Given the description of an element on the screen output the (x, y) to click on. 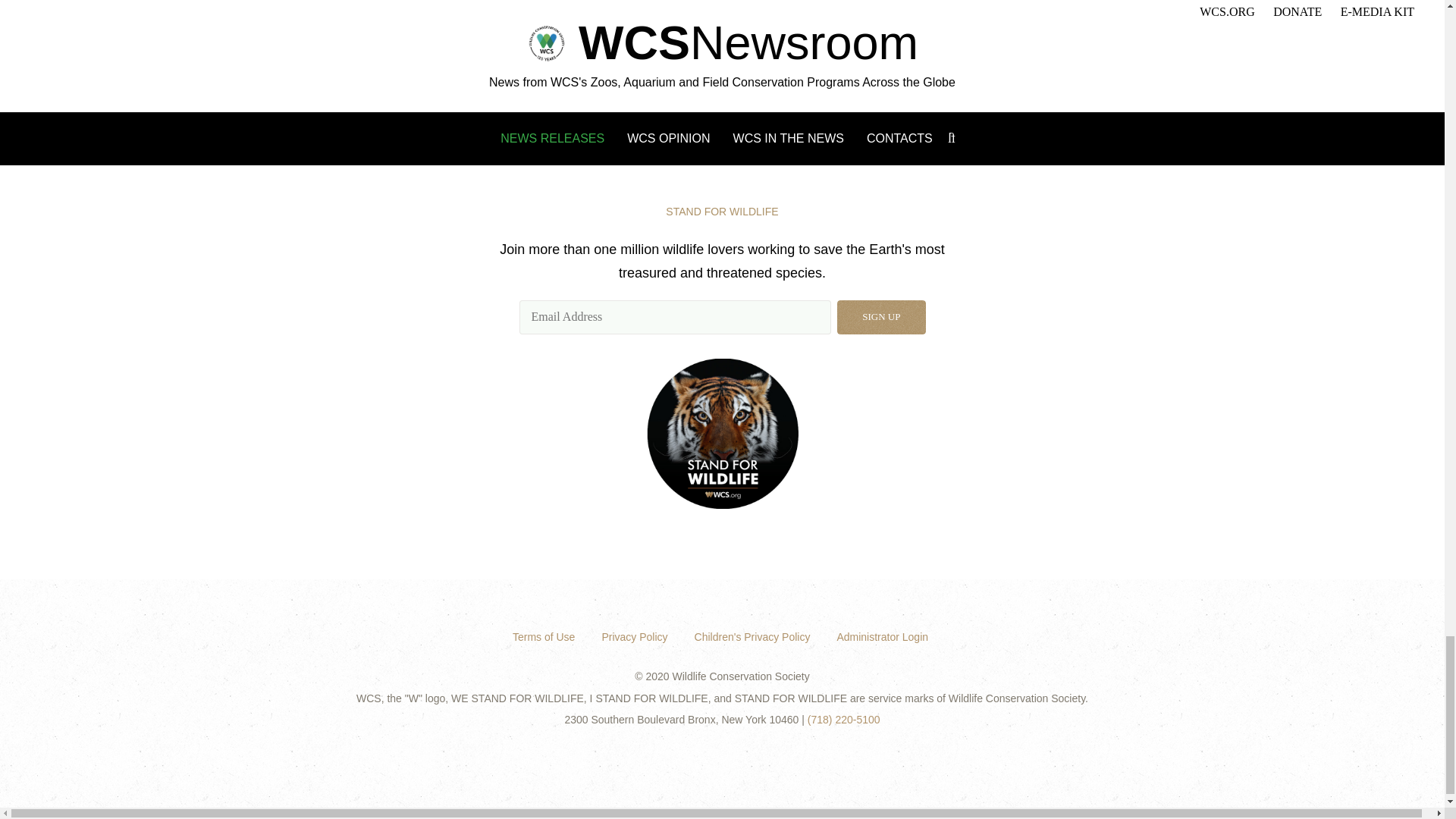
newsroom.wcs.org (659, 18)
347-840-1242 (467, 42)
SIGN UP (880, 317)
